Given the description of an element on the screen output the (x, y) to click on. 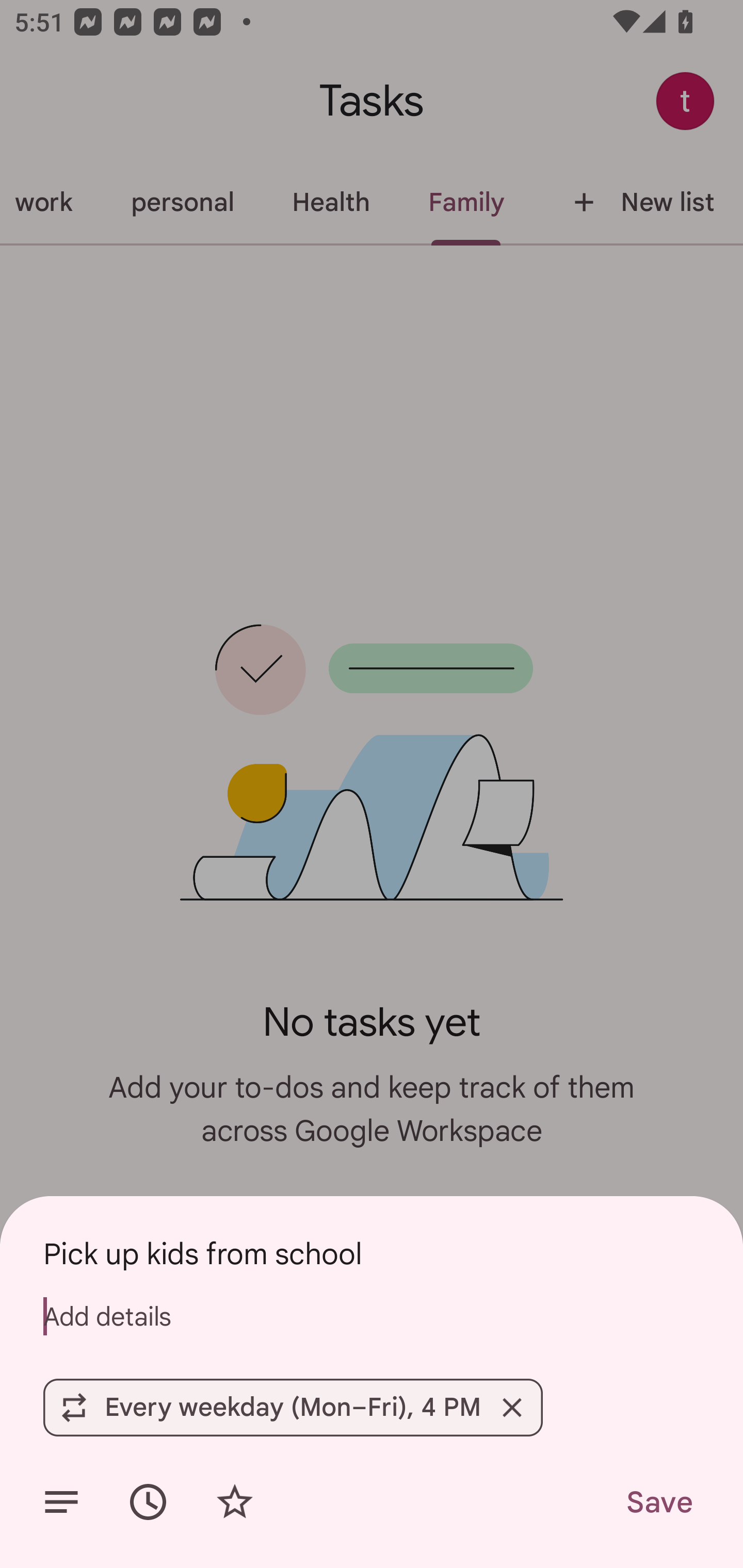
Pick up kids from school (371, 1253)
Add details (371, 1315)
Save (659, 1501)
Add details (60, 1501)
Set date/time (147, 1501)
Add star (234, 1501)
